Given the description of an element on the screen output the (x, y) to click on. 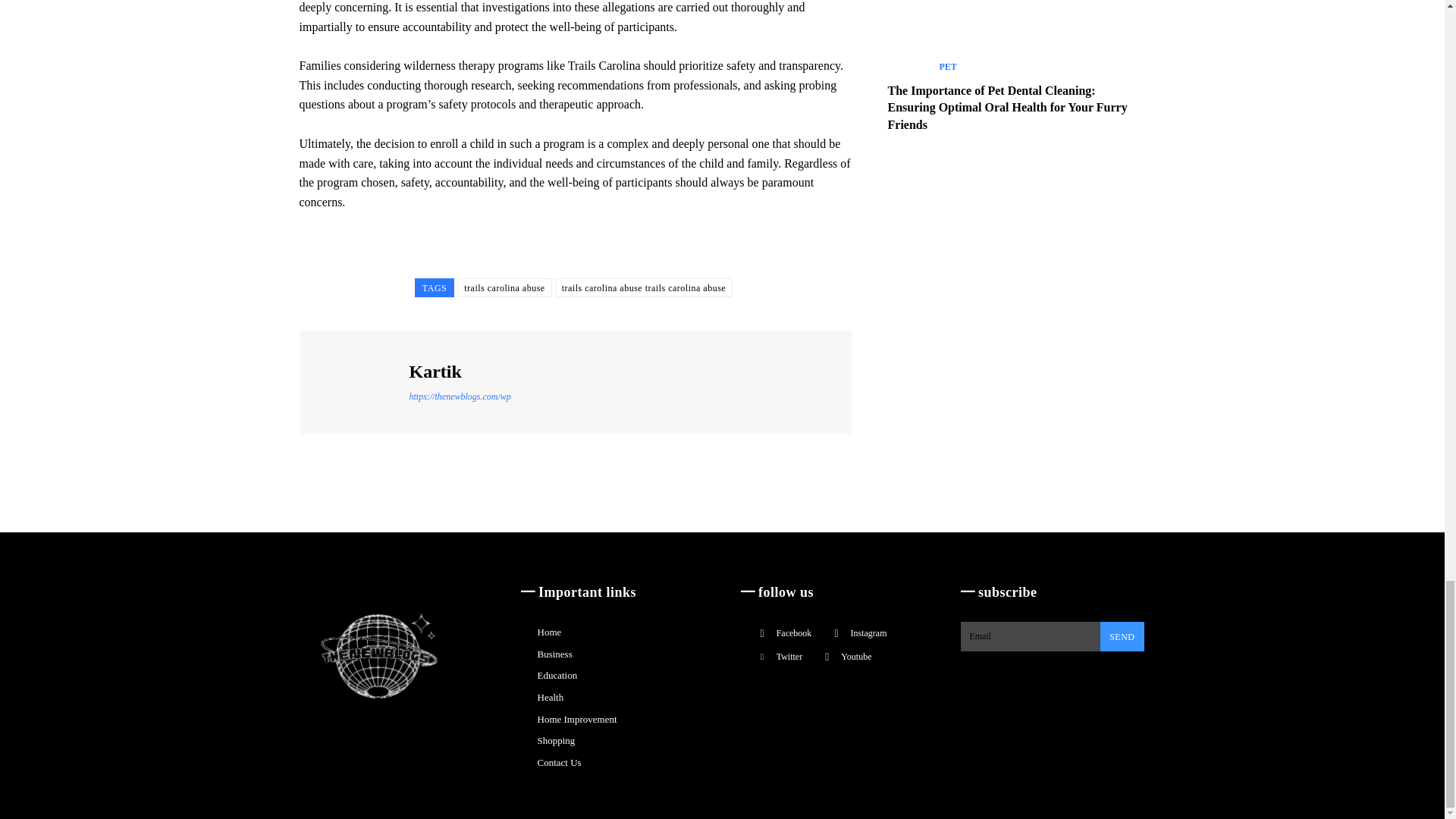
Kartik (356, 381)
Facebook (761, 633)
Instagram (836, 633)
